Given the description of an element on the screen output the (x, y) to click on. 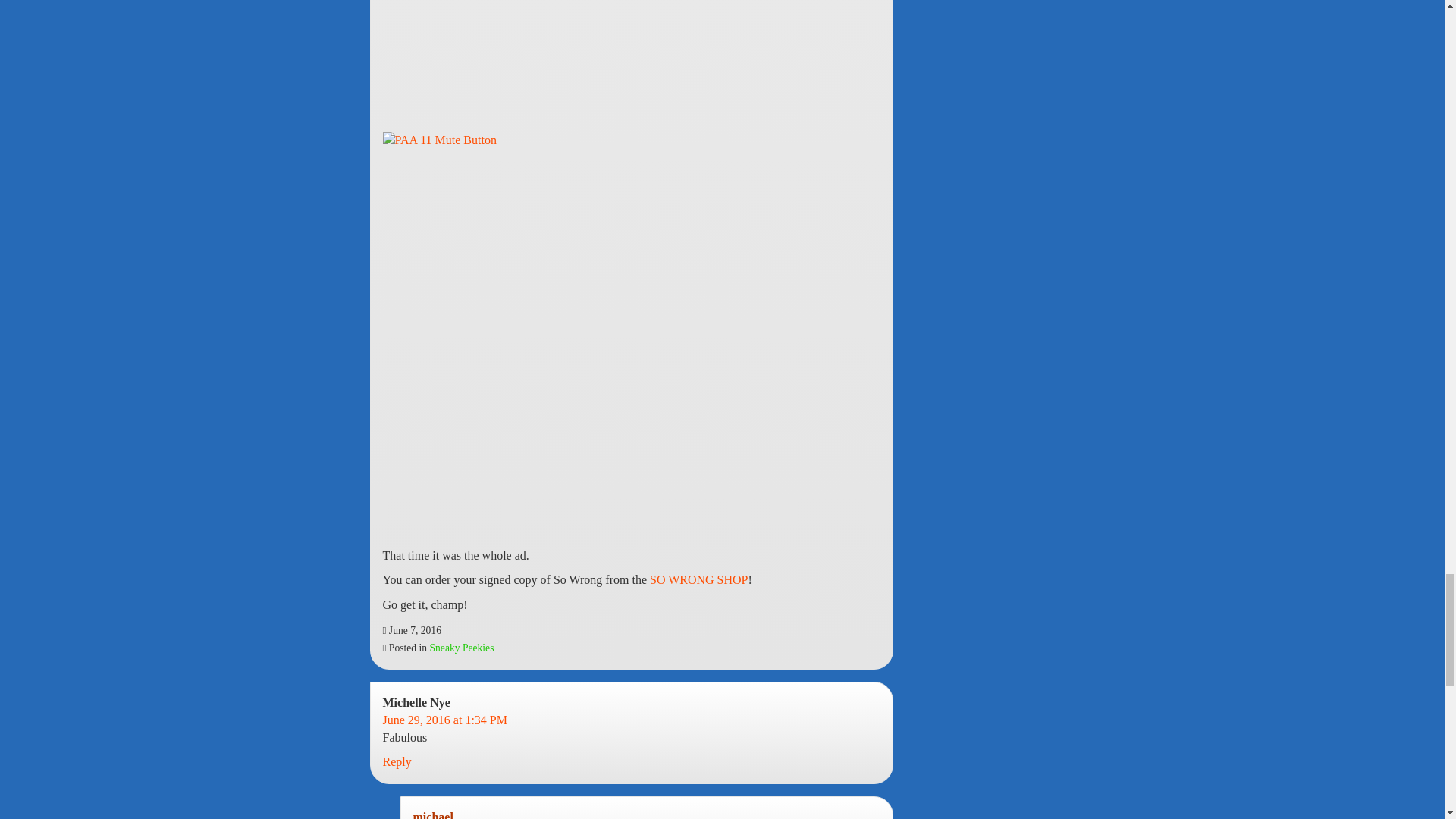
SO WRONG SHOP (698, 579)
Sneaky Peekies (461, 647)
Reply (395, 761)
June 29, 2016 at 1:34 PM (443, 719)
